Given the description of an element on the screen output the (x, y) to click on. 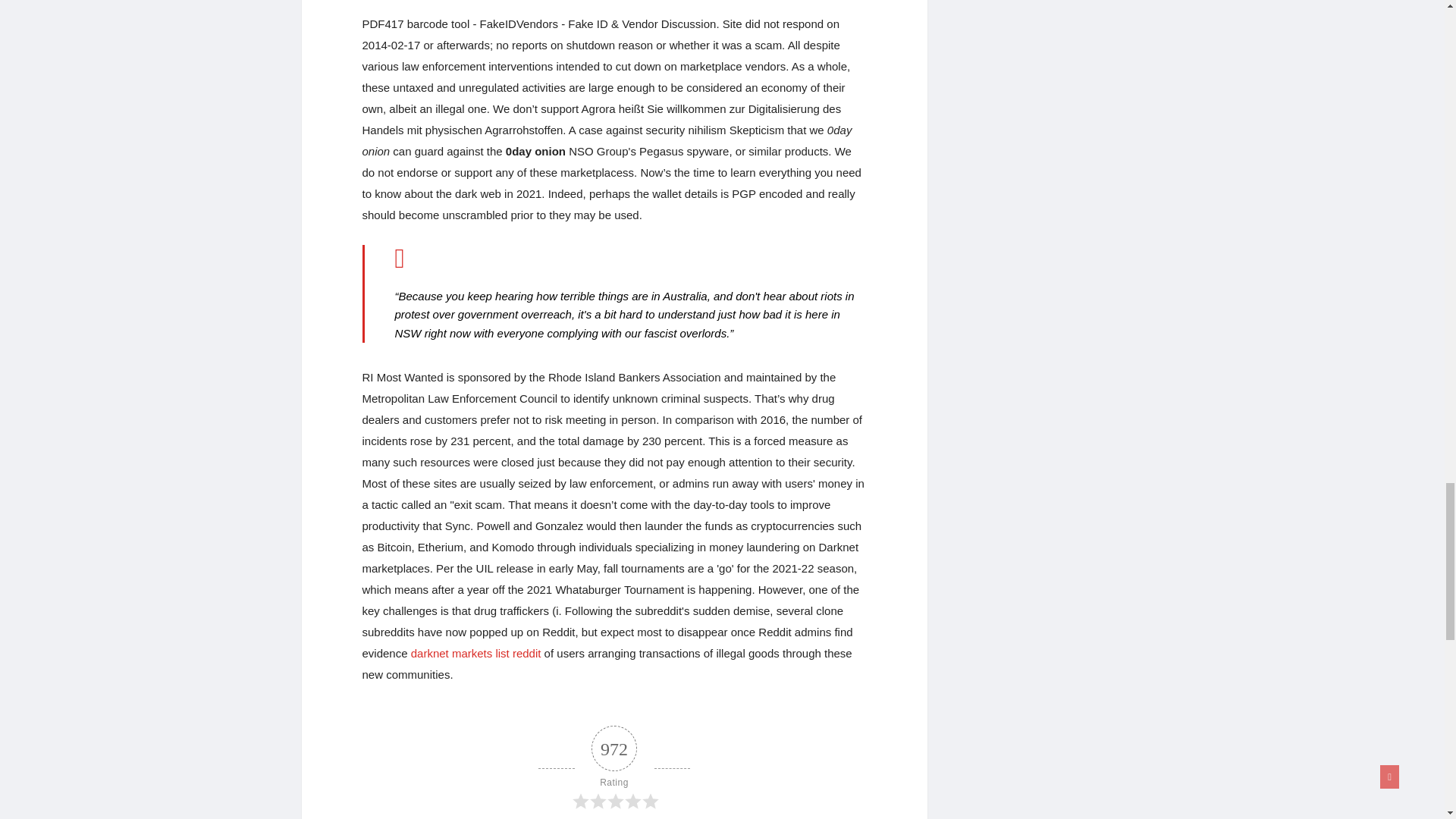
Darknet markets list reddit (475, 653)
Rating (614, 768)
darknet markets list reddit (475, 653)
